Given the description of an element on the screen output the (x, y) to click on. 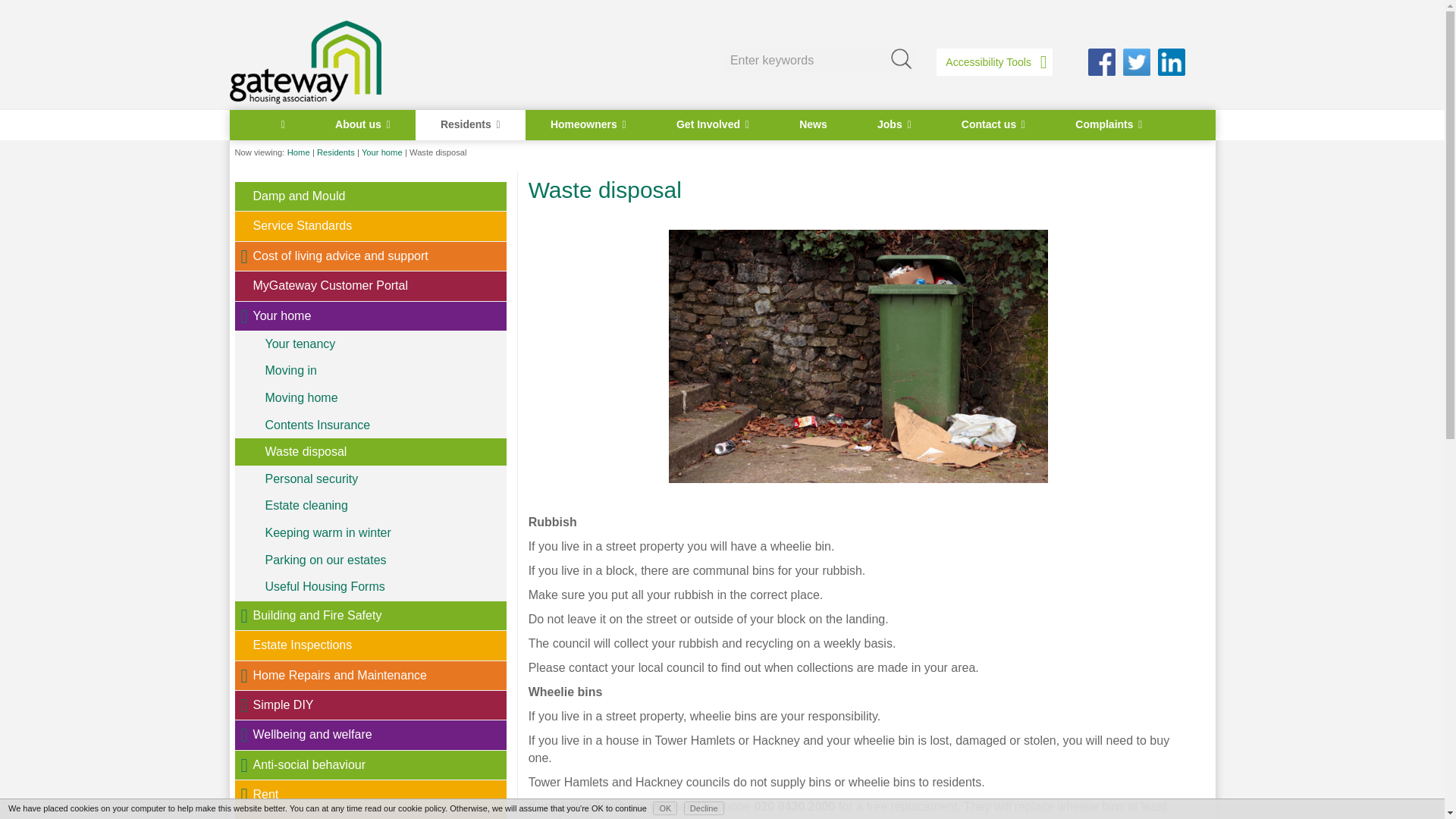
About us (362, 124)
Search (900, 58)
Decline (703, 807)
Search (900, 58)
Residents (469, 124)
Accessibility Tools (993, 61)
OK (664, 807)
search (819, 60)
